Given the description of an element on the screen output the (x, y) to click on. 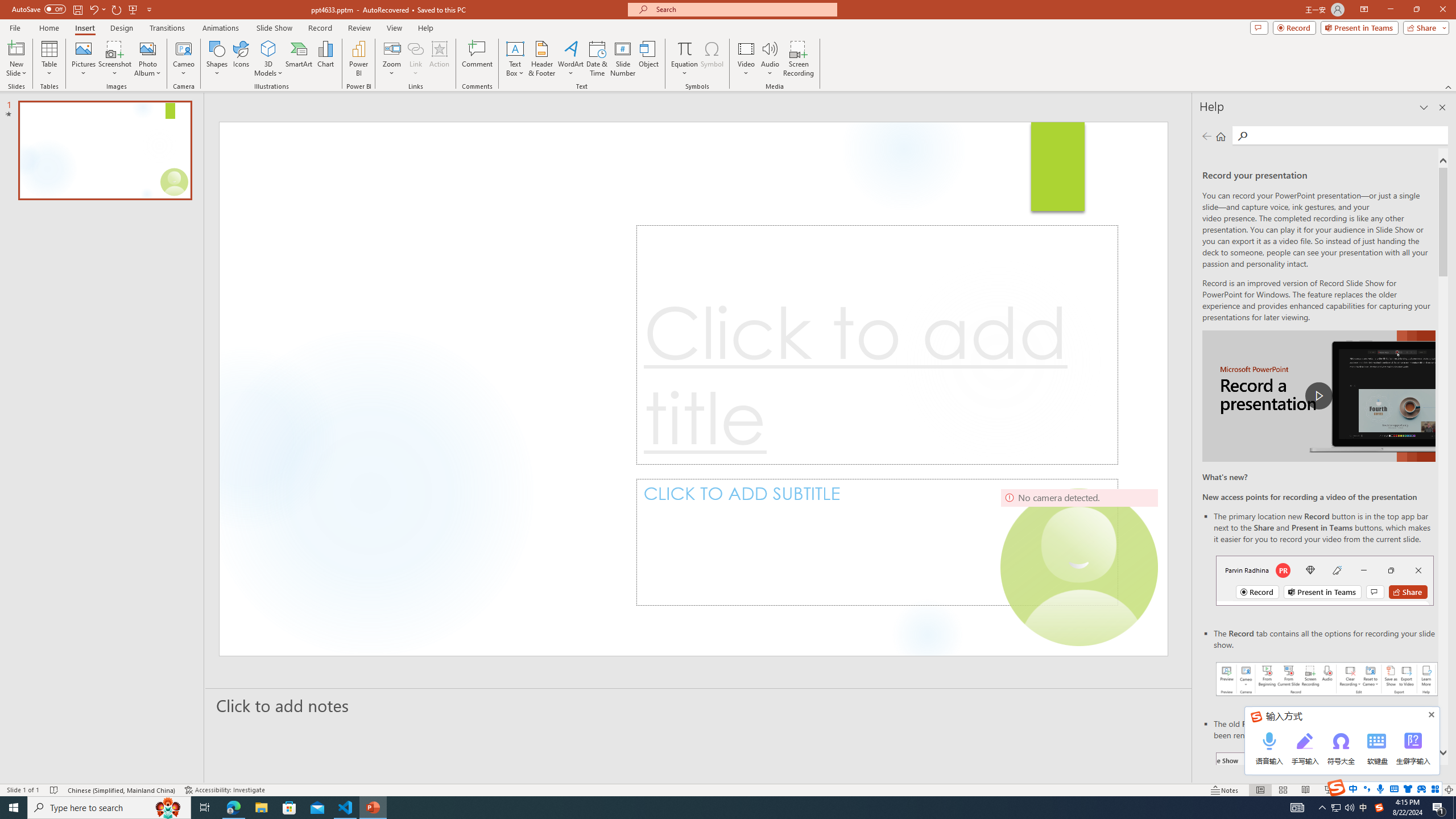
Chart... (325, 58)
Comment (476, 58)
Screenshot (114, 58)
Record button in top bar (1324, 580)
3D Models (268, 48)
Zoom 131% (1430, 790)
Symbol... (711, 58)
